Given the description of an element on the screen output the (x, y) to click on. 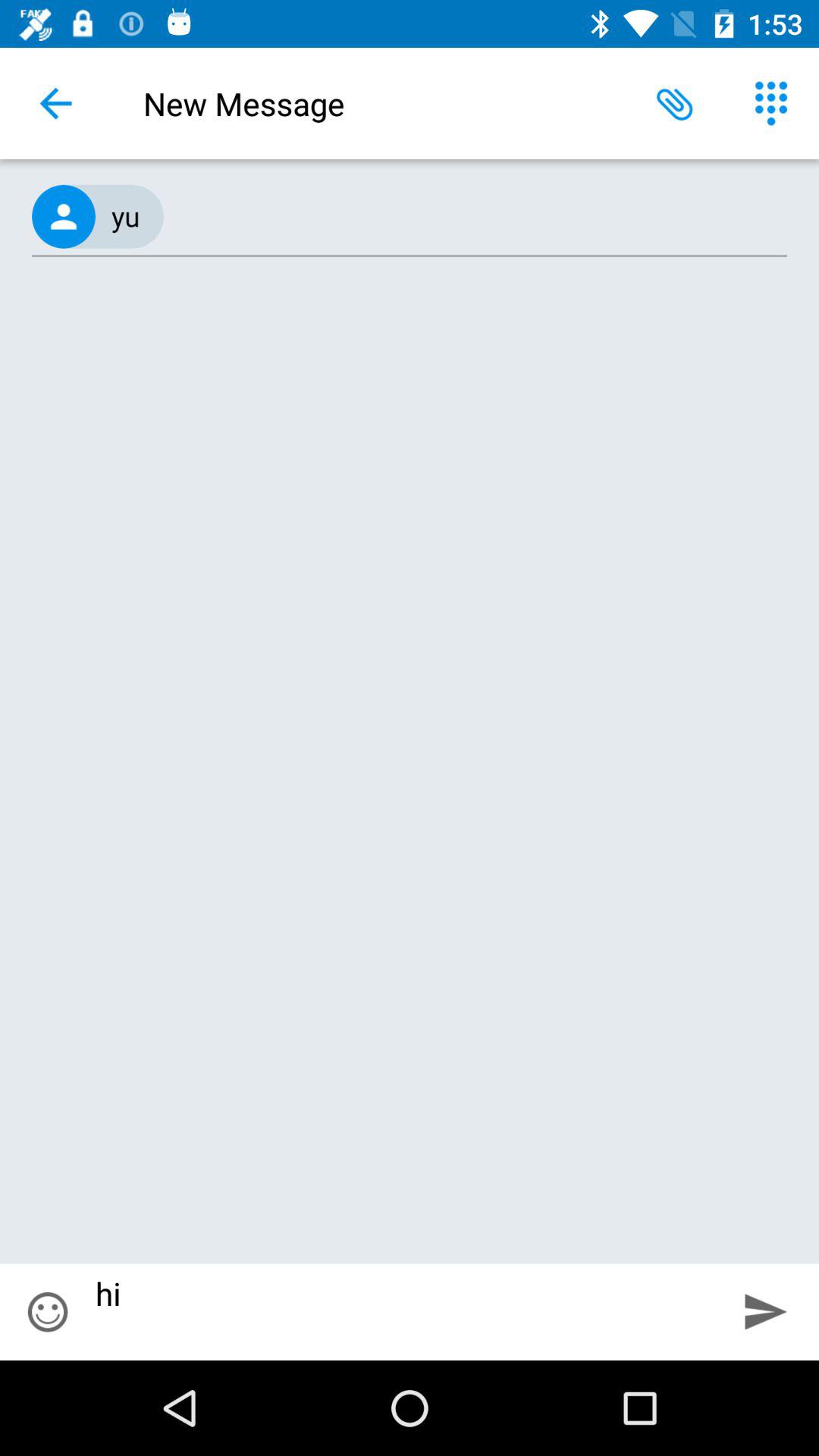
go to emojis (47, 1311)
